Given the description of an element on the screen output the (x, y) to click on. 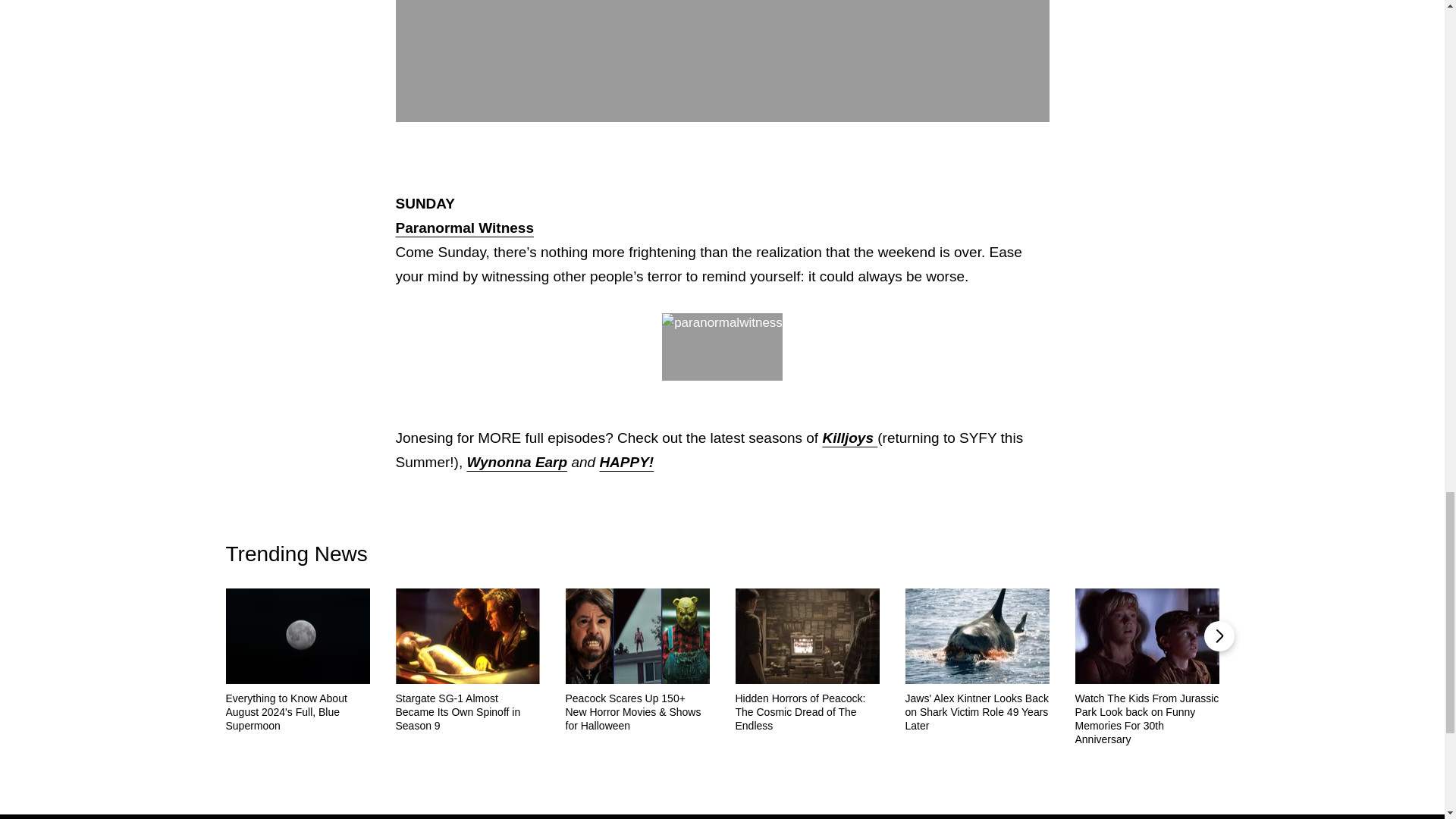
Killjoys (849, 437)
Stargate SG-1 Almost Became Its Own Spinoff in Season 9 (468, 711)
HAPPY! (625, 462)
Everything to Know About August 2024's Full, Blue Supermoon (297, 711)
Paranormal Witness (465, 227)
Hidden Horrors of Peacock: The Cosmic Dread of The Endless (807, 711)
Wynonna Earp (516, 462)
